Given the description of an element on the screen output the (x, y) to click on. 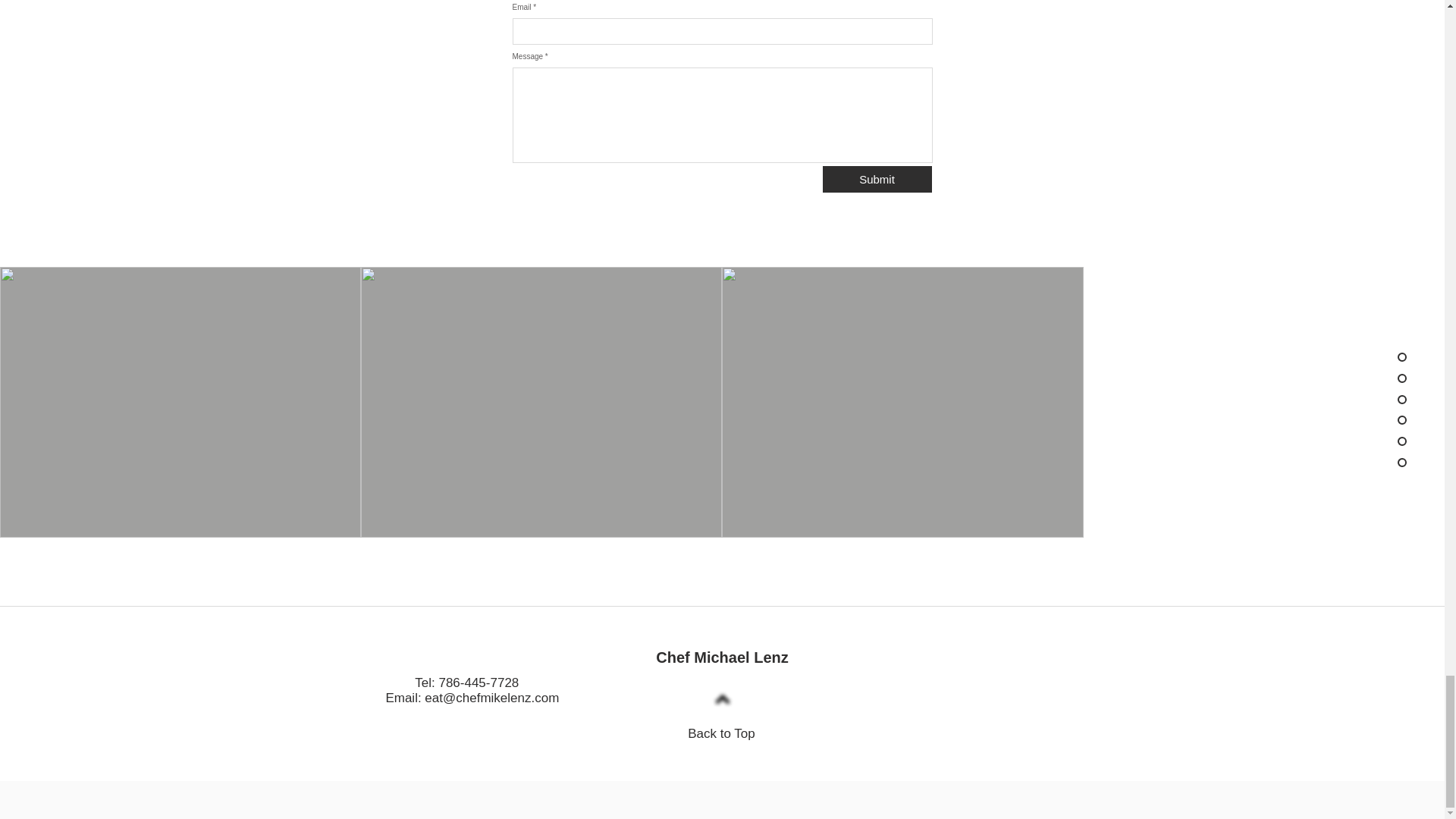
Submit (876, 179)
Back to Top (721, 733)
